Given the description of an element on the screen output the (x, y) to click on. 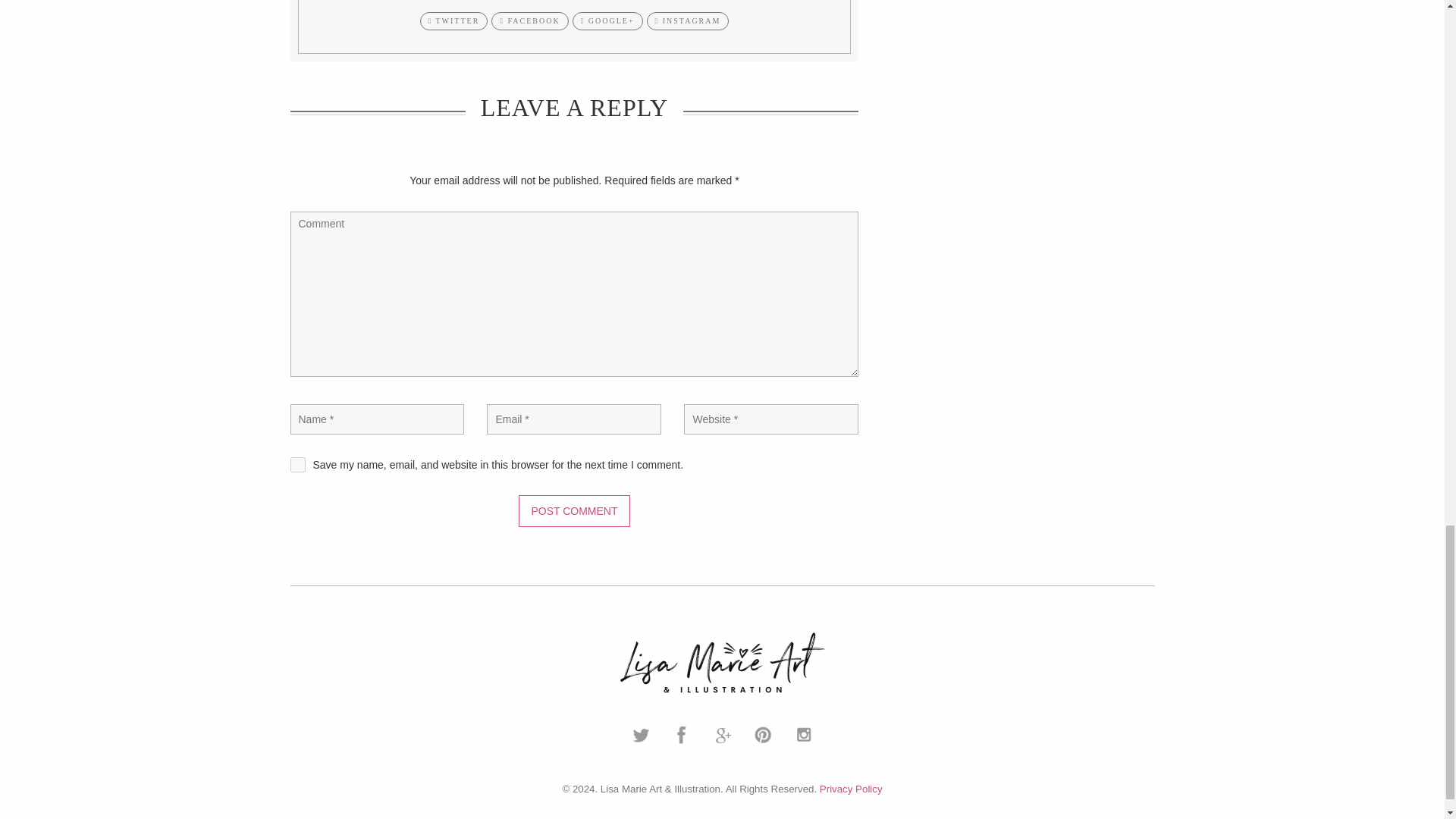
TWITTER (453, 21)
FACEBOOK (529, 21)
Post Comment (573, 511)
